Given the description of an element on the screen output the (x, y) to click on. 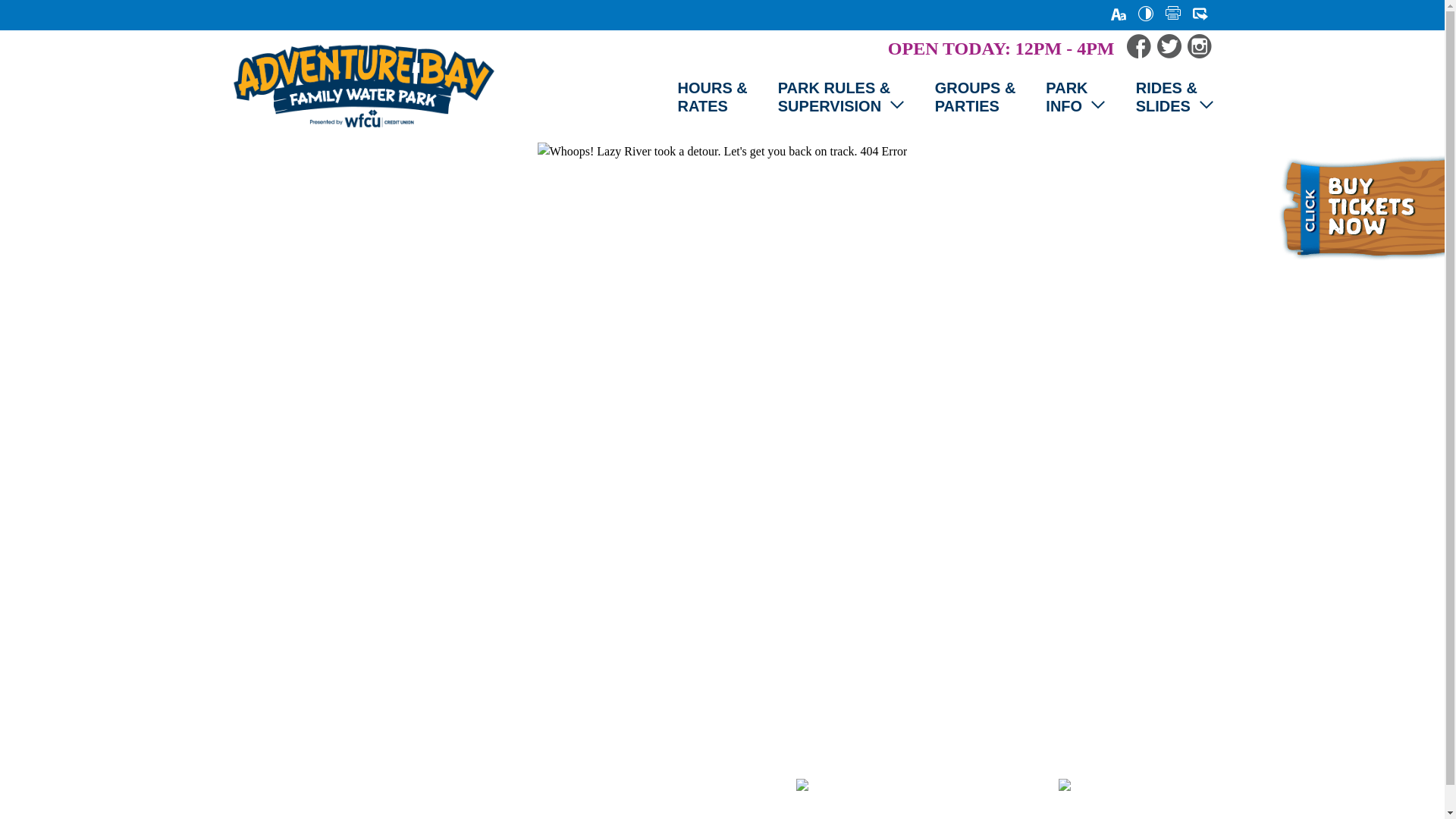
PRIVACY POLICY Element type: text (625, 786)
GROUPS & PARTIES Element type: text (975, 96)
HOURS & RATES Element type: text (712, 96)
Home Element type: hover (362, 86)
CONTACT US Element type: text (507, 786)
